Given the description of an element on the screen output the (x, y) to click on. 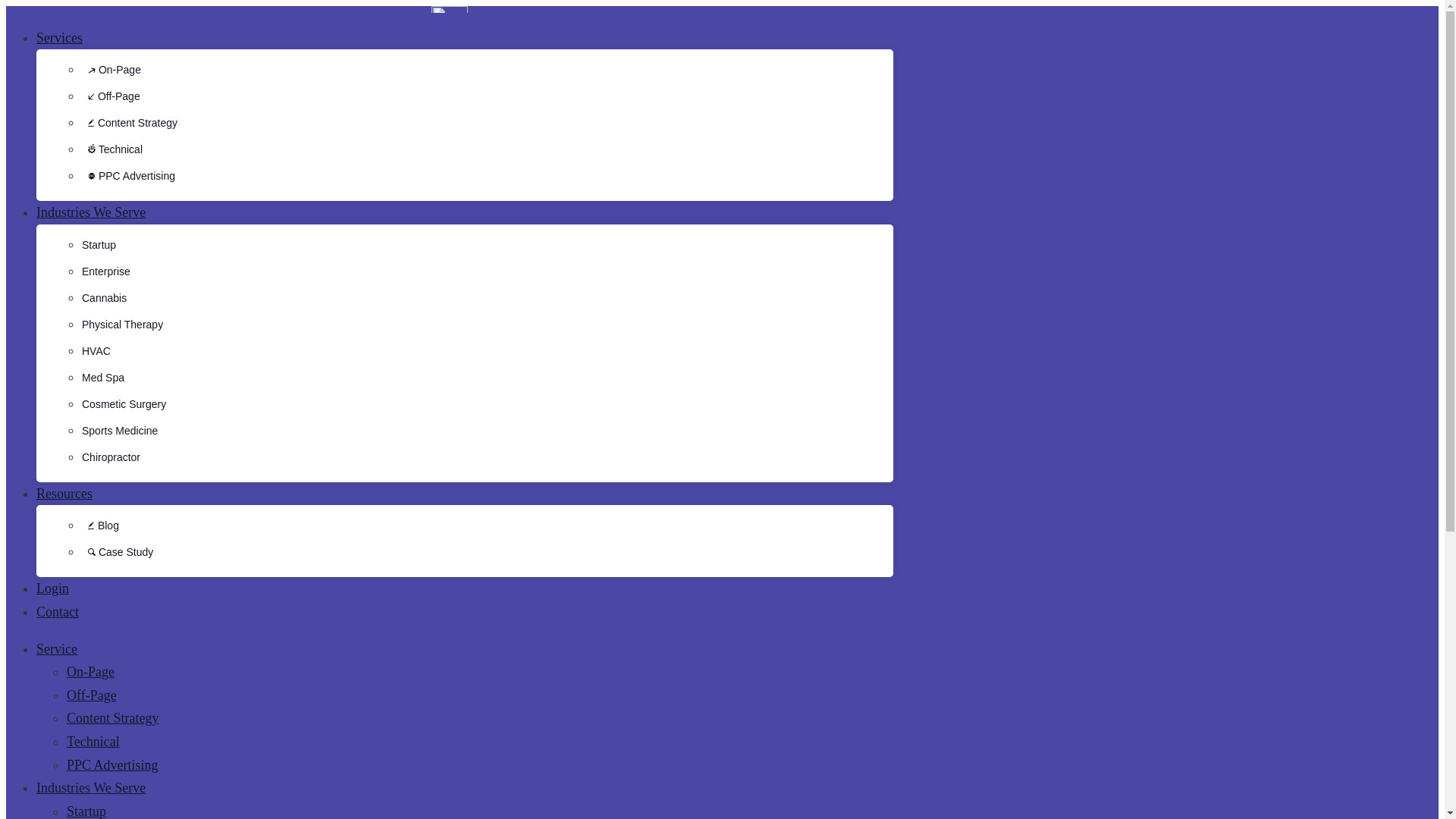
Case Study (116, 551)
Cosmetic Surgery (123, 404)
Content Strategy (129, 122)
Physical Therapy (122, 324)
Enterprise (106, 271)
Startup (98, 244)
Cannabis (103, 297)
Blog (100, 525)
Technical (111, 149)
On-Page (111, 69)
Service (56, 648)
Startup (86, 811)
Off-Page (110, 96)
On-Page (90, 671)
Chiropractor (110, 457)
